Given the description of an element on the screen output the (x, y) to click on. 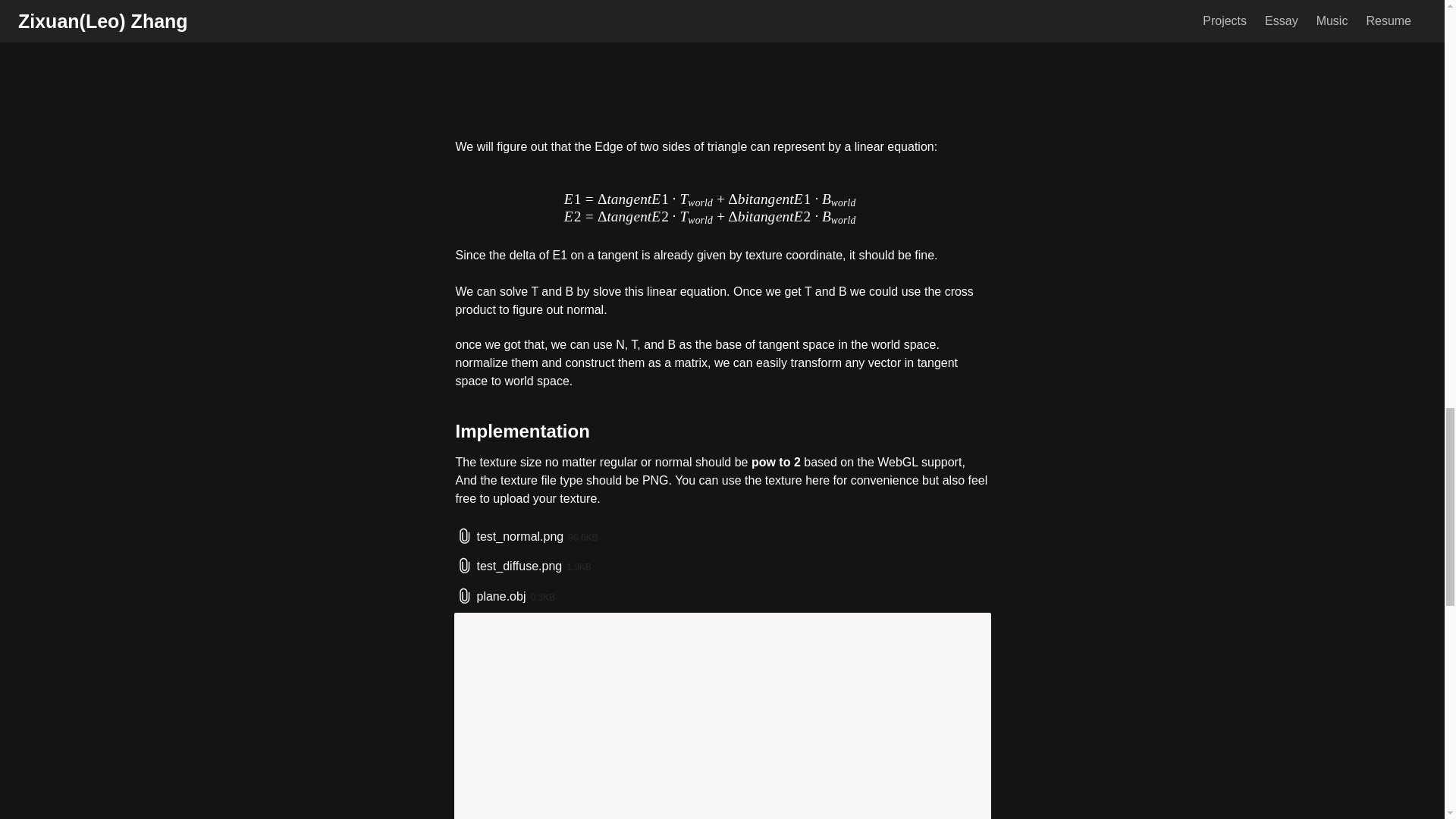
web-demos-eight.vercel.app (721, 715)
plane.obj0.3KB (721, 597)
